Given the description of an element on the screen output the (x, y) to click on. 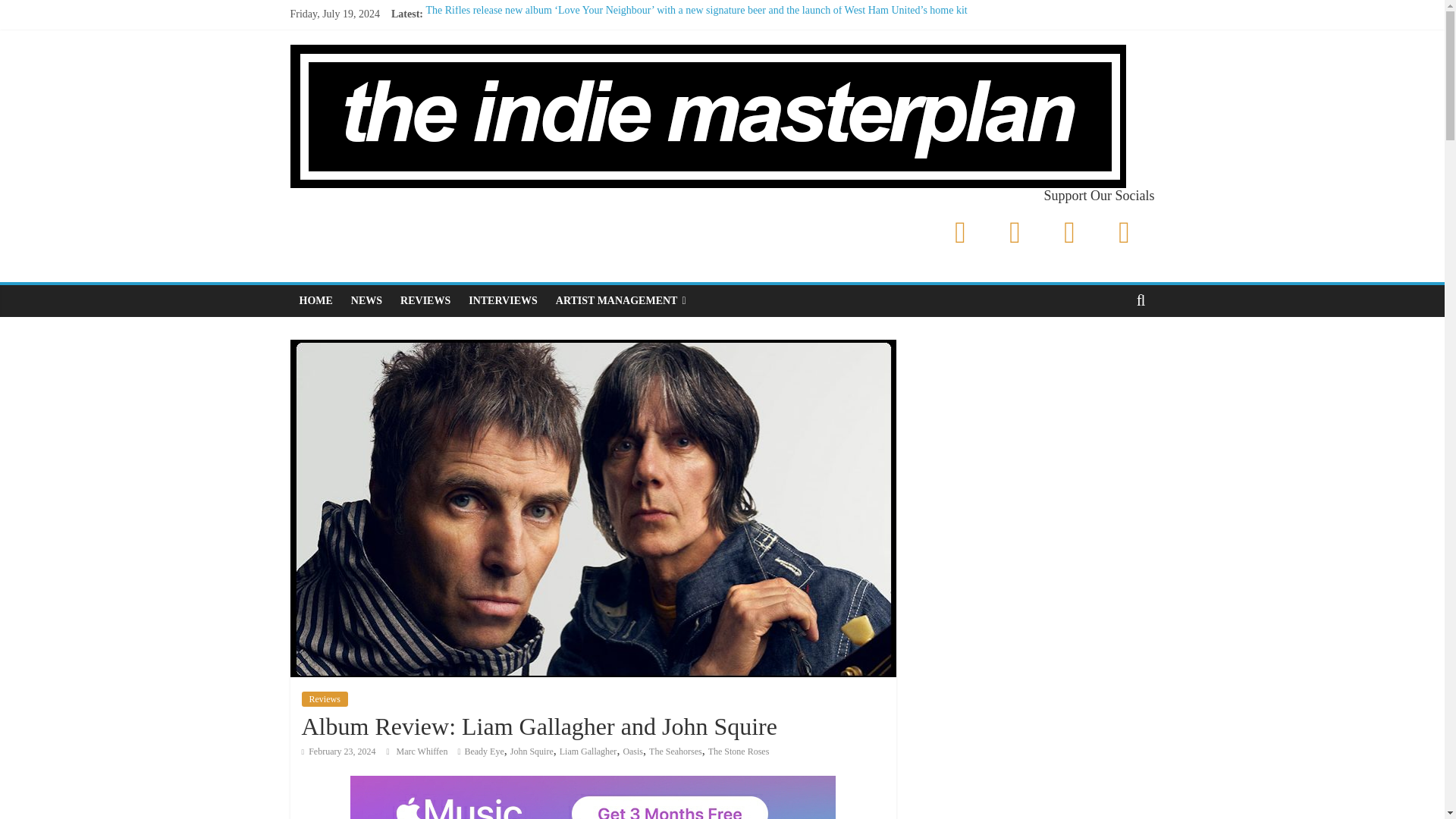
ARTIST MANAGEMENT (621, 300)
February 23, 2024 (338, 751)
John Squire (532, 751)
Marc Whiffen (422, 751)
3:37 pm (338, 751)
NEWS (366, 300)
Oasis (633, 751)
REVIEWS (425, 300)
Liam Gallagher (588, 751)
HOME (314, 300)
Marc Whiffen (422, 751)
Reviews (324, 698)
The Seahorses (675, 751)
The Stone Roses (738, 751)
INTERVIEWS (503, 300)
